Given the description of an element on the screen output the (x, y) to click on. 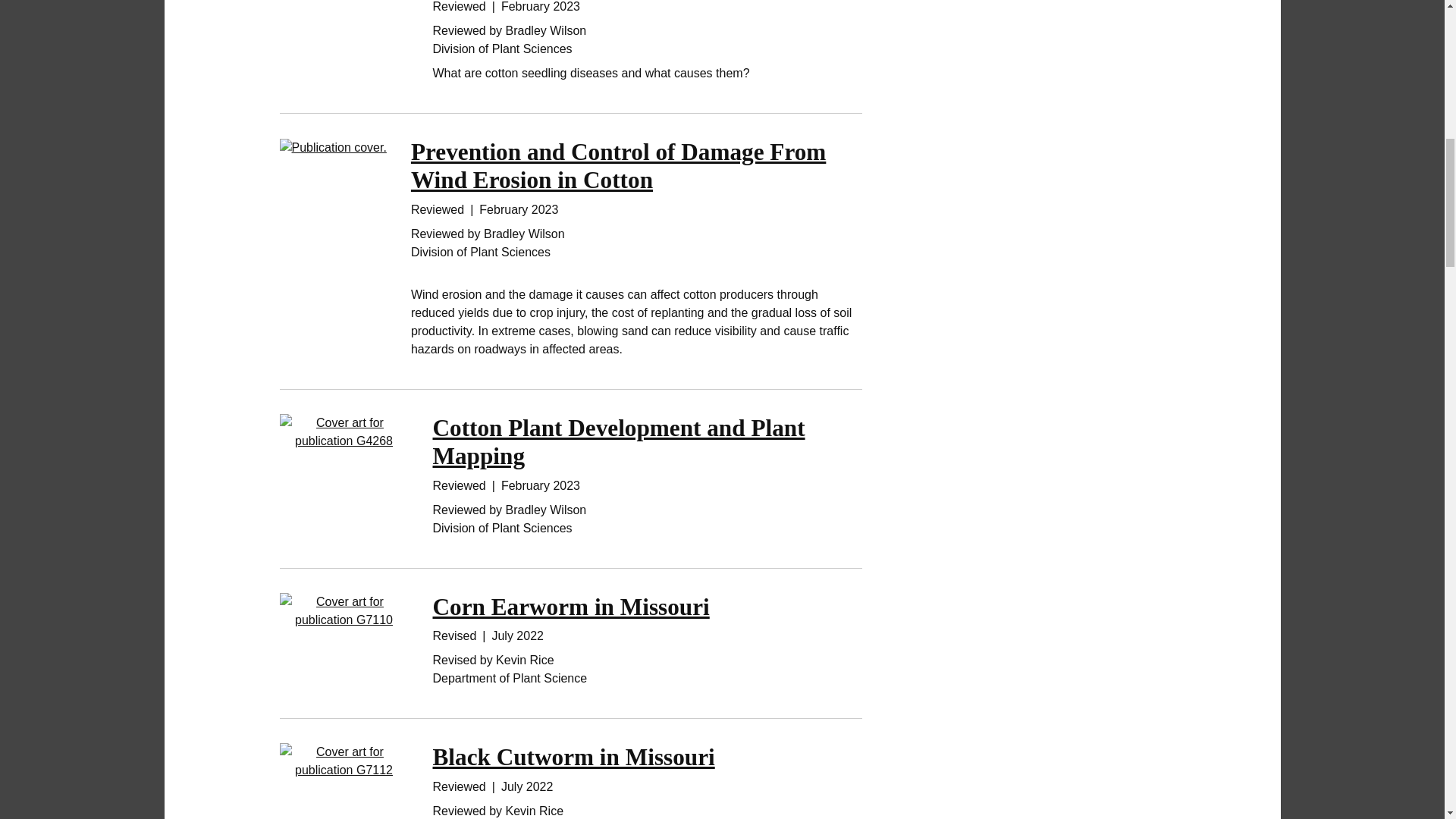
Black Cutworm in Missouri (573, 756)
Cotton Plant Development and Plant Mapping (618, 442)
Prevention and Control of Damage From Wind Erosion in Cotton (617, 166)
Corn Earworm in Missouri (570, 606)
